Given the description of an element on the screen output the (x, y) to click on. 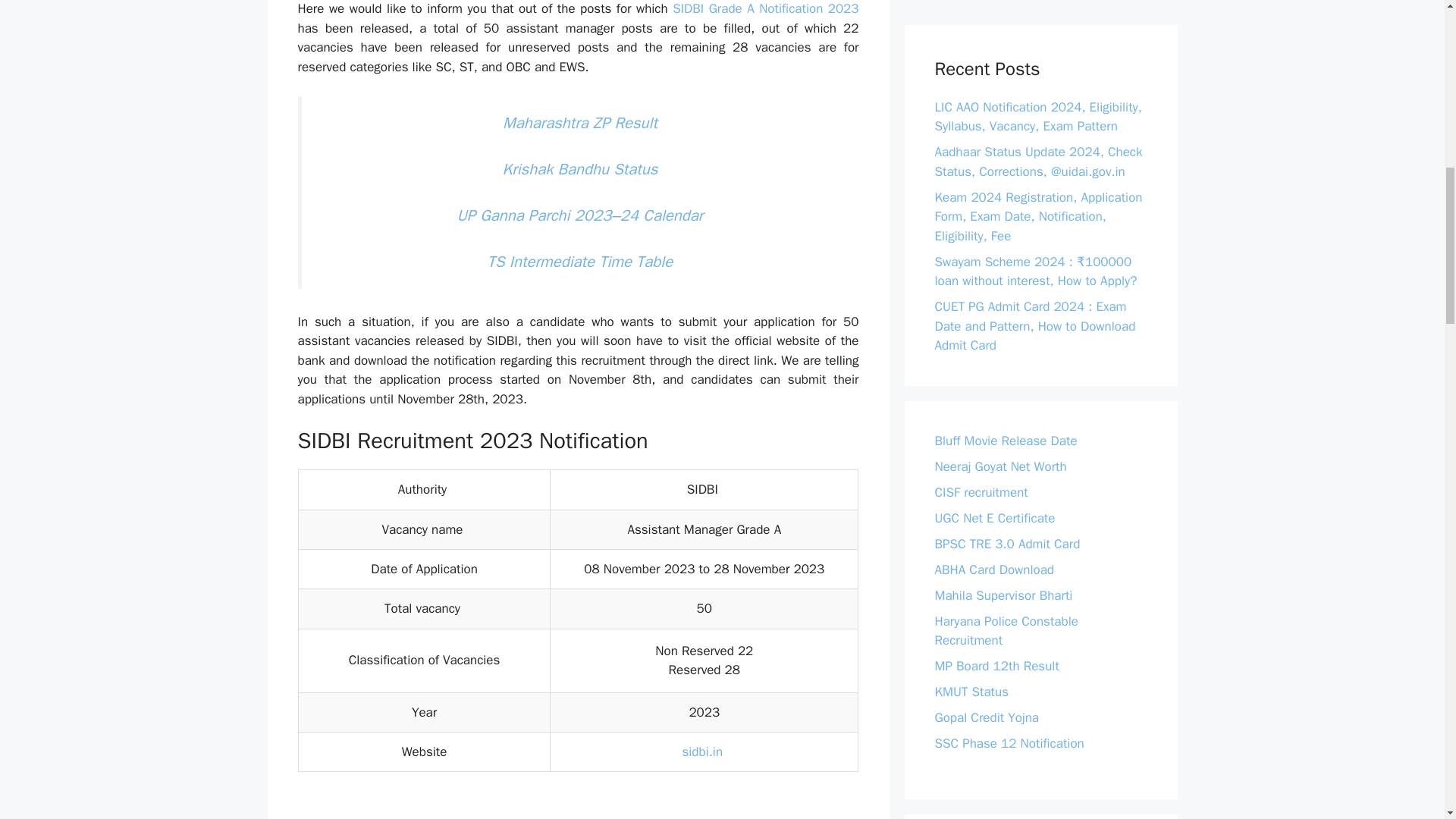
Maharashtra ZP Result (580, 122)
sidbi.in  (703, 751)
Krishak Bandhu Status (580, 168)
TS Intermediate Time Table (579, 261)
SIDBI Grade A Notification 2023 (765, 8)
r (787, 569)
